Given the description of an element on the screen output the (x, y) to click on. 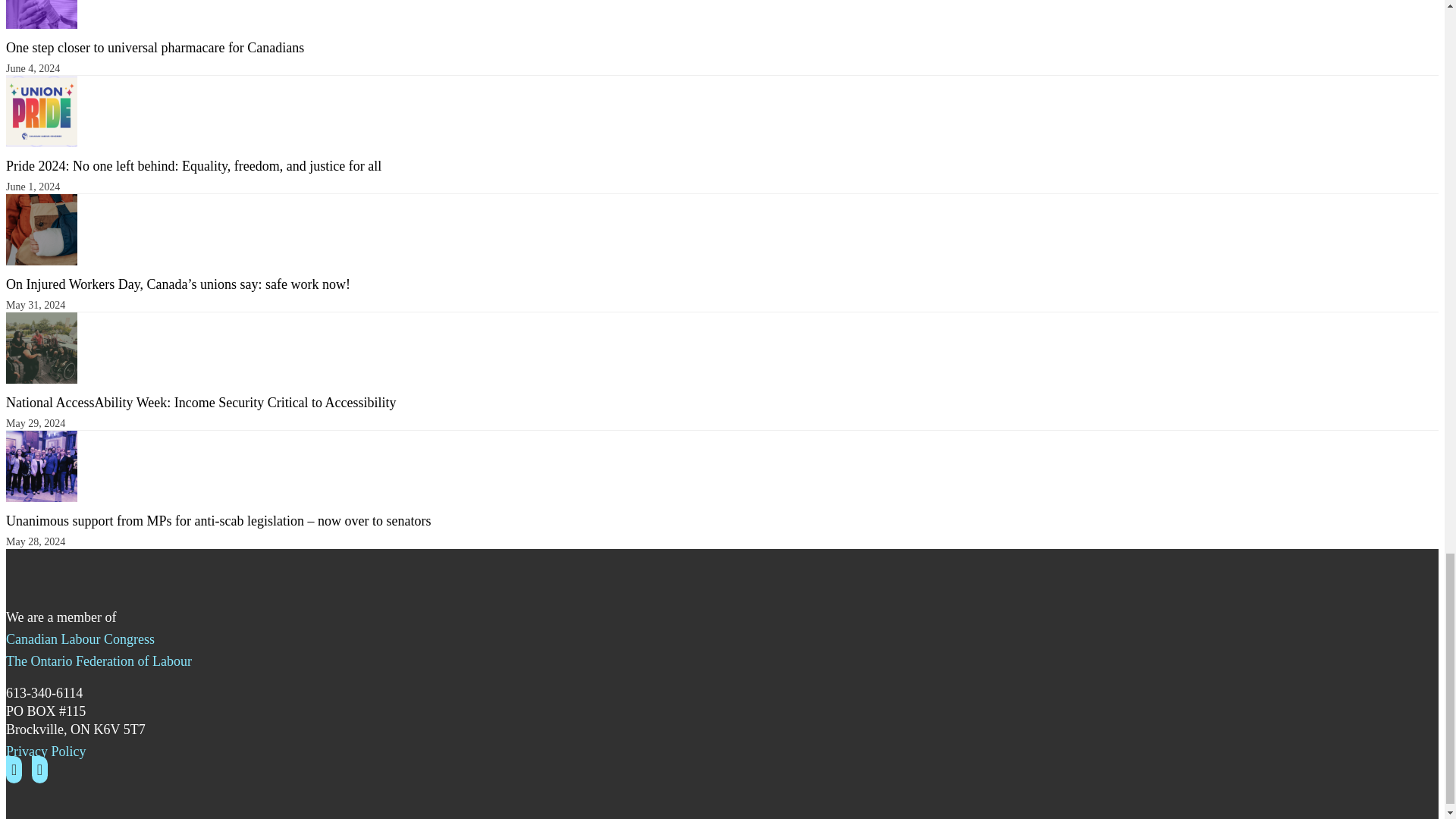
Privacy Policy (45, 751)
